Given the description of an element on the screen output the (x, y) to click on. 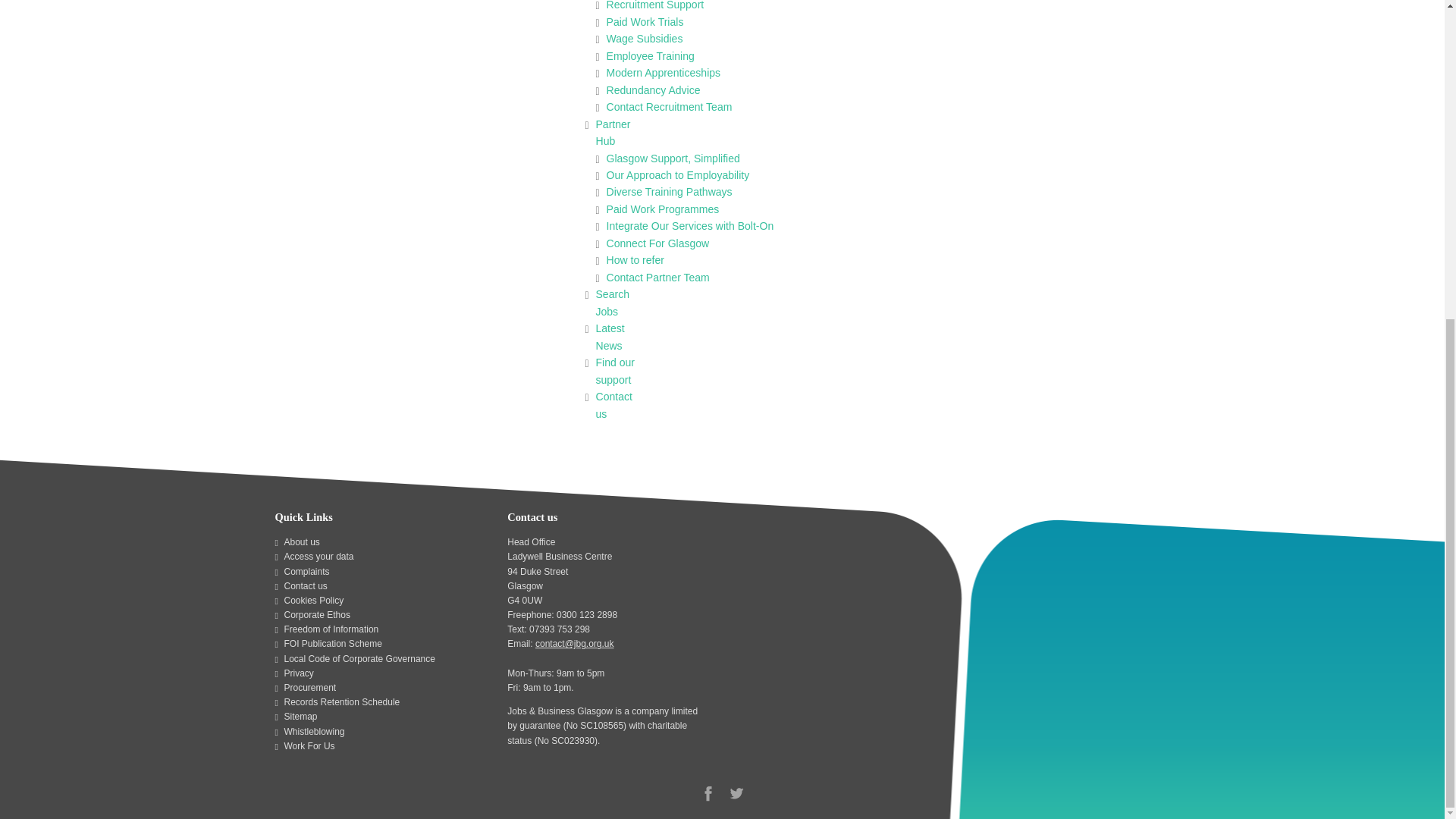
Facebook (707, 793)
Twitter (735, 793)
